Given the description of an element on the screen output the (x, y) to click on. 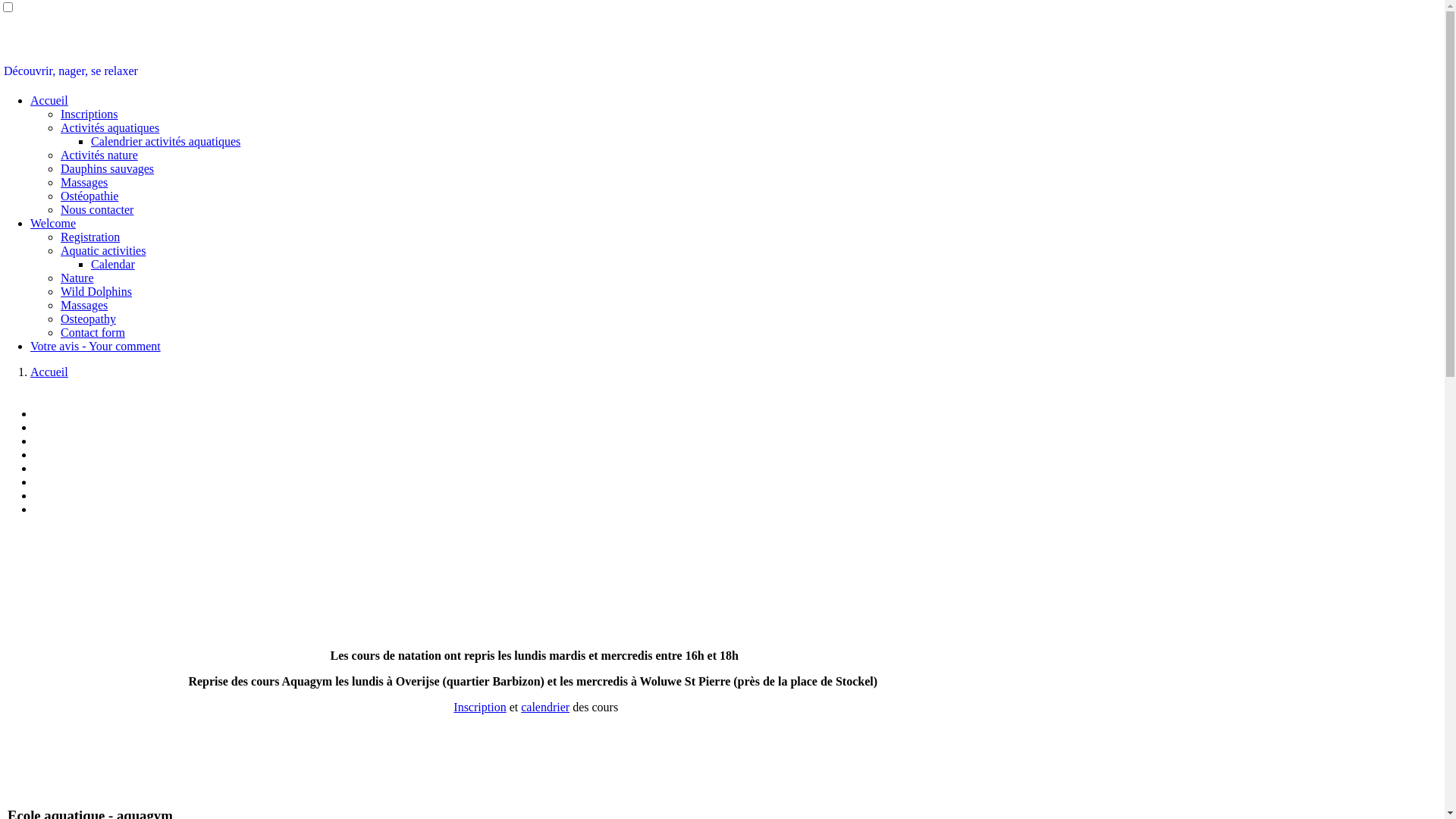
Massages Element type: text (83, 304)
Nous contacter Element type: text (96, 209)
Osteopathy Element type: text (88, 318)
Dauphins sauvages Element type: text (106, 168)
Accueil Element type: text (49, 100)
Welcome Element type: text (52, 222)
Calendar Element type: text (112, 263)
Inscriptions Element type: text (89, 113)
Contact form Element type: text (92, 332)
Wild Dolphins Element type: text (95, 291)
Massages Element type: text (83, 181)
Inscription Element type: text (479, 706)
calendrier Element type: text (544, 706)
Accueil Element type: text (49, 371)
Registration Element type: text (89, 236)
Votre avis - Your comment Element type: text (95, 345)
Aquatic activities Element type: text (102, 250)
Nature Element type: text (77, 277)
